Given the description of an element on the screen output the (x, y) to click on. 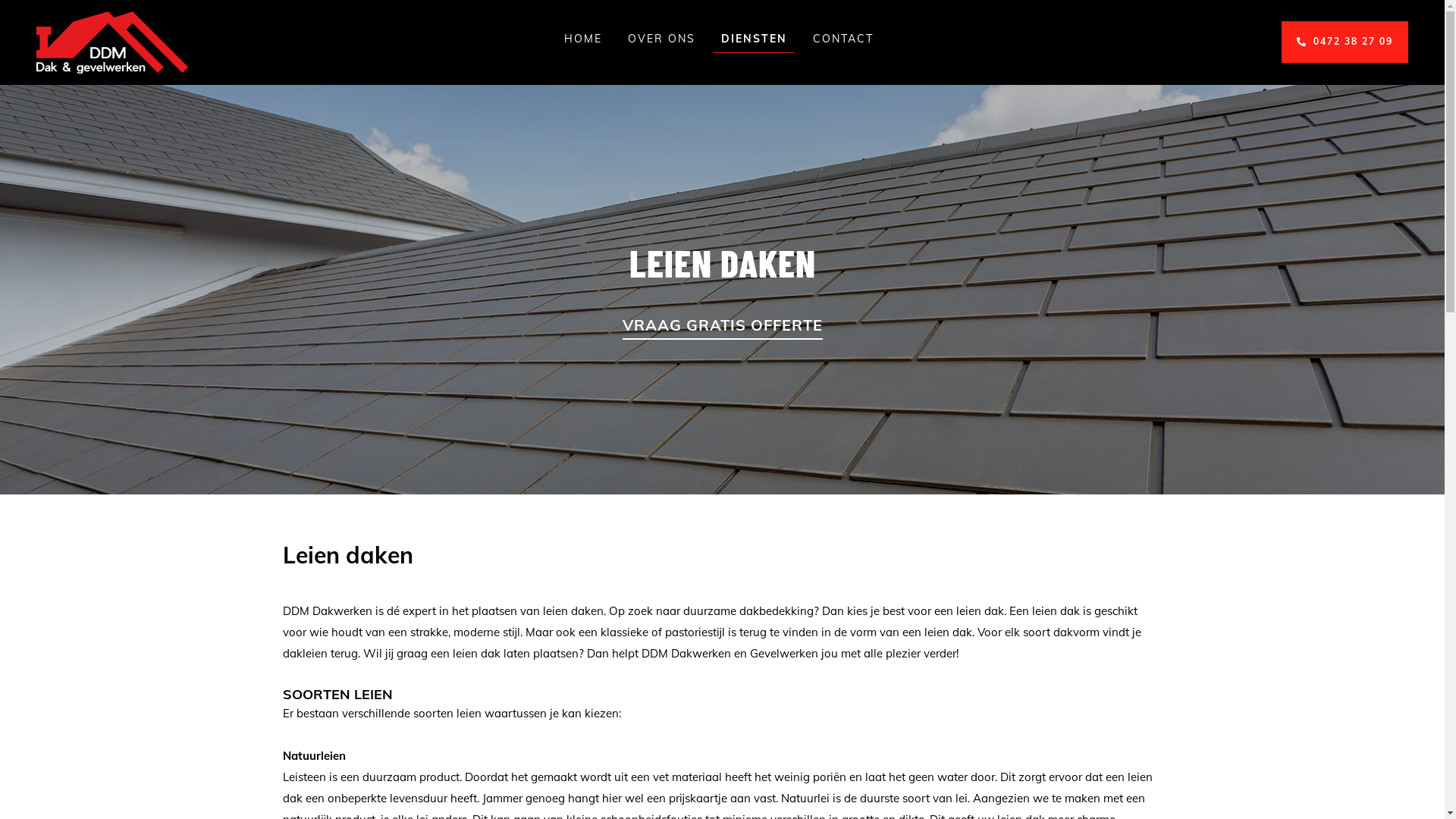
VRAAG GRATIS OFFERTE Element type: text (721, 327)
OVER ONS Element type: text (661, 42)
DIENSTEN Element type: text (752, 42)
Dakwerken De Maesschalck Dirk CommV Element type: hover (112, 42)
CONTACT Element type: text (843, 42)
HOME Element type: text (582, 42)
0472 38 27 09 Element type: text (1344, 41)
